Given the description of an element on the screen output the (x, y) to click on. 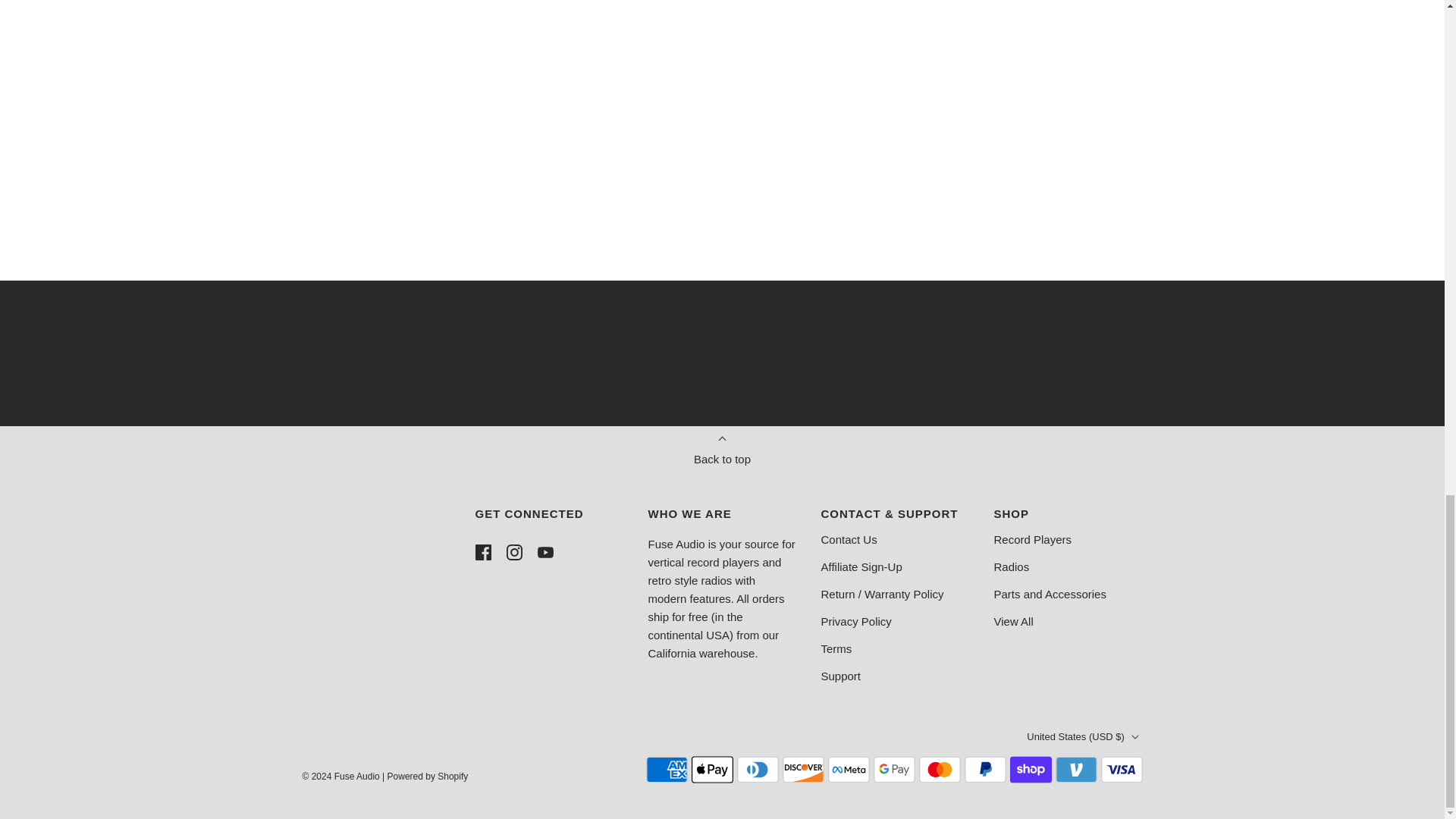
Google Pay (894, 769)
Instagram icon (514, 552)
Shop Pay (1030, 769)
Discover (803, 769)
Mastercard (939, 769)
Facebook icon (482, 552)
Diners Club (757, 769)
Venmo (1076, 769)
Apple Pay (712, 769)
American Express (666, 769)
